Given the description of an element on the screen output the (x, y) to click on. 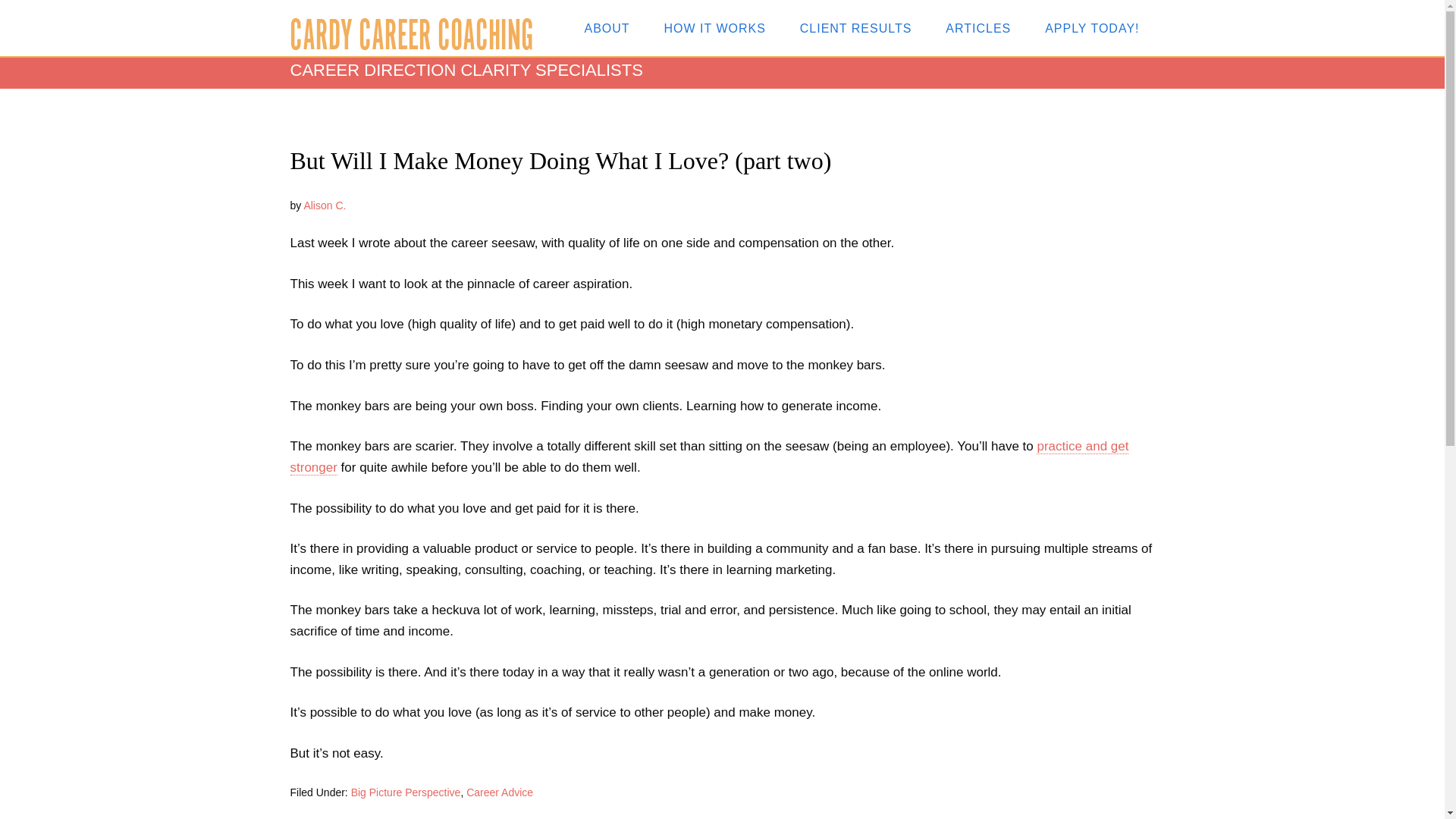
CARDY CAREER COACHING (410, 33)
Alison C. (324, 205)
APPLY TODAY! (1091, 26)
CLIENT RESULTS (855, 26)
HOW IT WORKS (713, 26)
practice and get stronger (708, 456)
Career Advice (498, 792)
ARTICLES (978, 26)
ABOUT (607, 26)
Big Picture Perspective (405, 792)
